Given the description of an element on the screen output the (x, y) to click on. 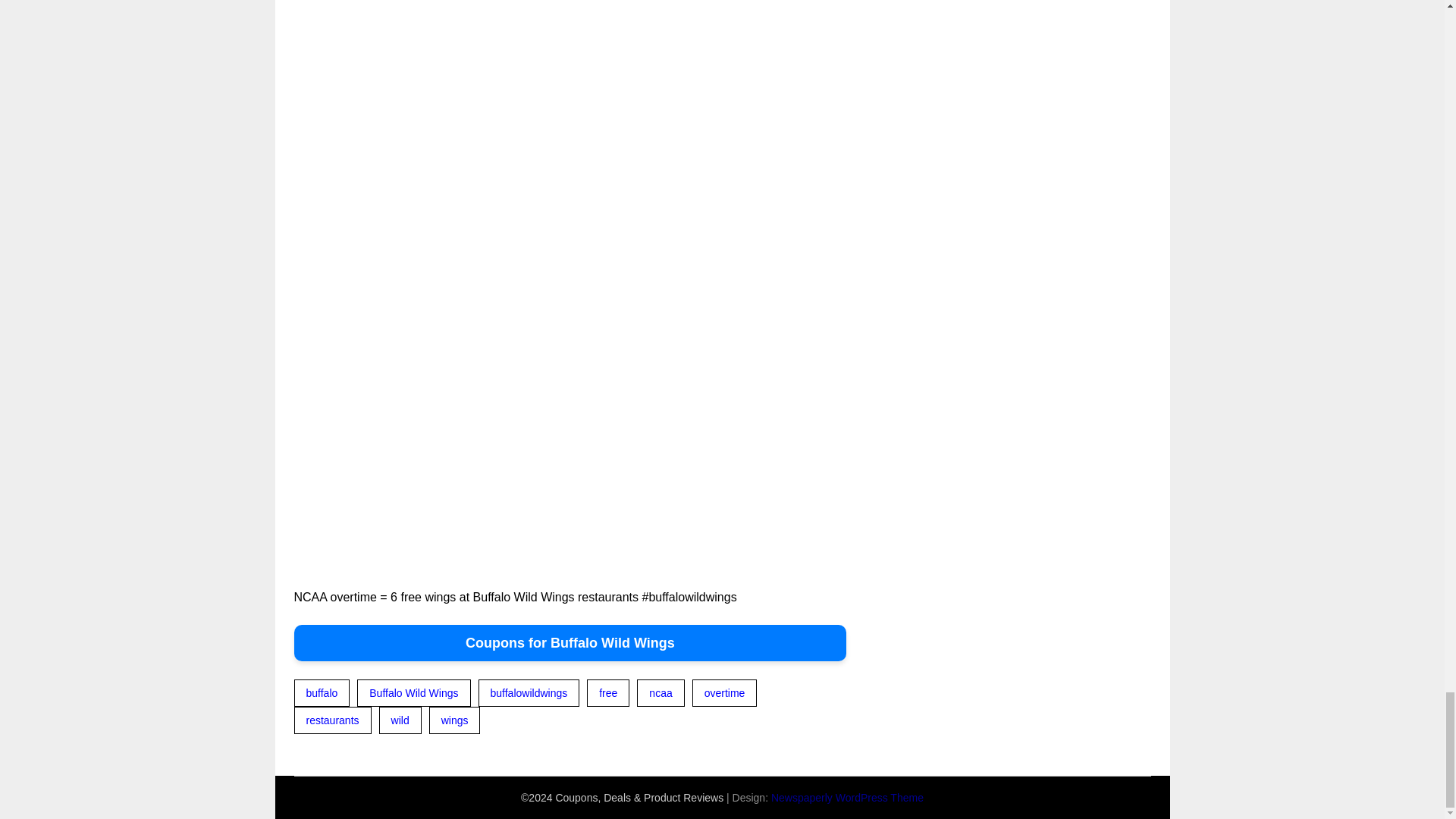
free (607, 692)
Buffalo Wild Wings (413, 692)
wings (454, 719)
buffalo (322, 692)
Coupons for Buffalo Wild Wings (570, 642)
overtime (725, 692)
buffalowildwings (529, 692)
wild (400, 719)
restaurants (332, 719)
ncaa (660, 692)
